Given the description of an element on the screen output the (x, y) to click on. 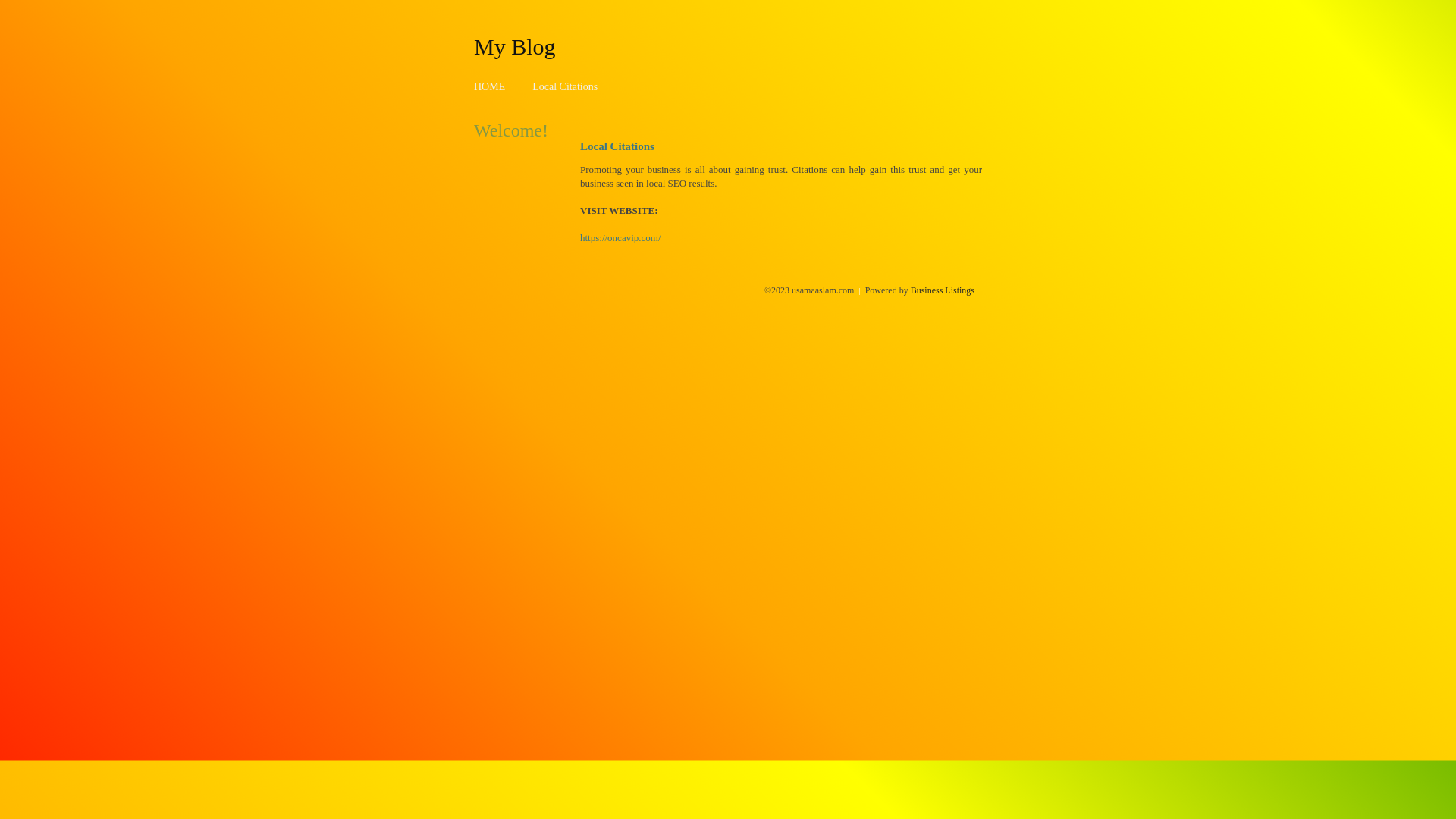
HOME Element type: text (489, 86)
Local Citations Element type: text (564, 86)
Business Listings Element type: text (942, 290)
https://oncavip.com/ Element type: text (620, 237)
My Blog Element type: text (514, 46)
